Given the description of an element on the screen output the (x, y) to click on. 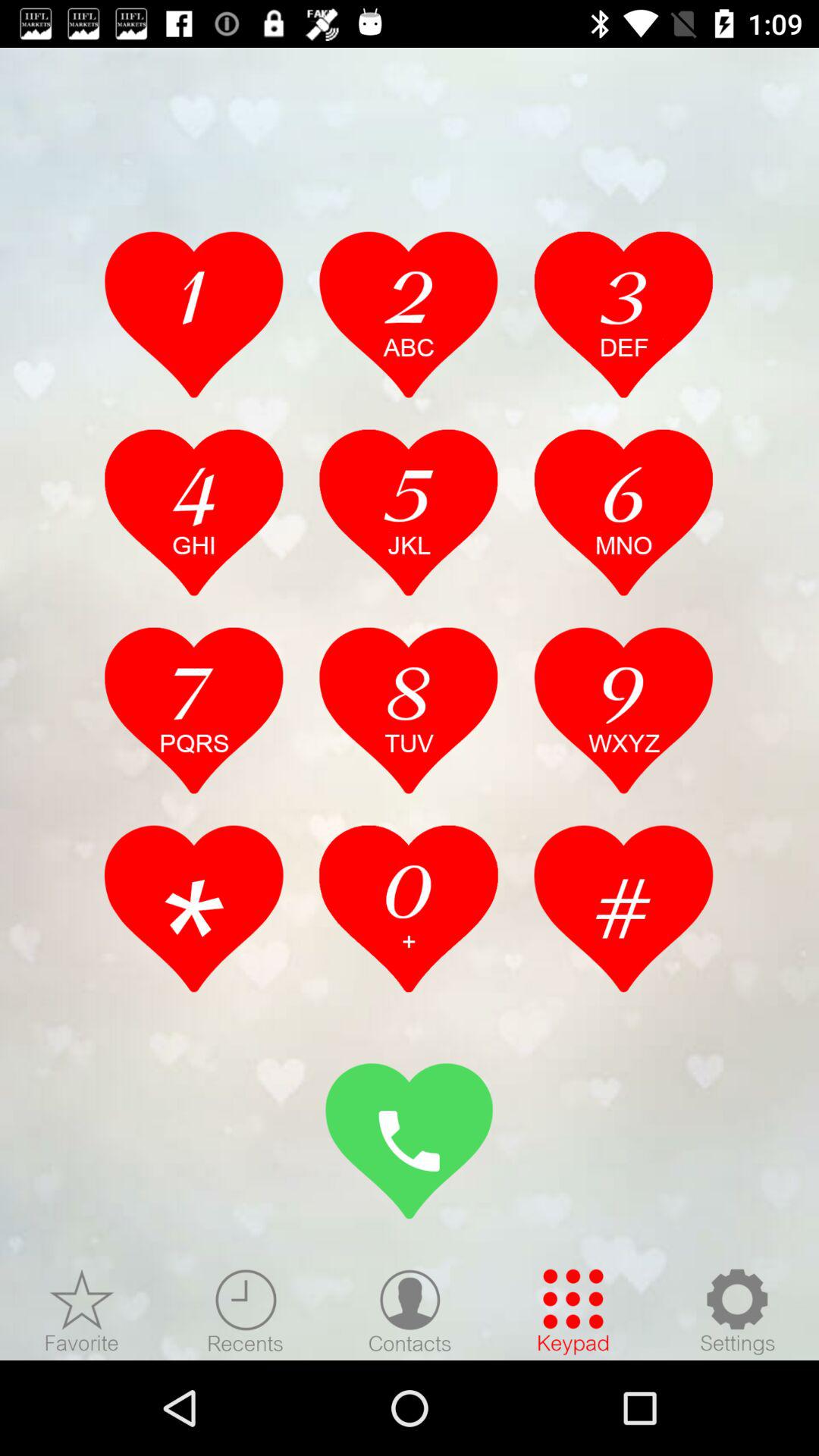
select the number (408, 314)
